Given the description of an element on the screen output the (x, y) to click on. 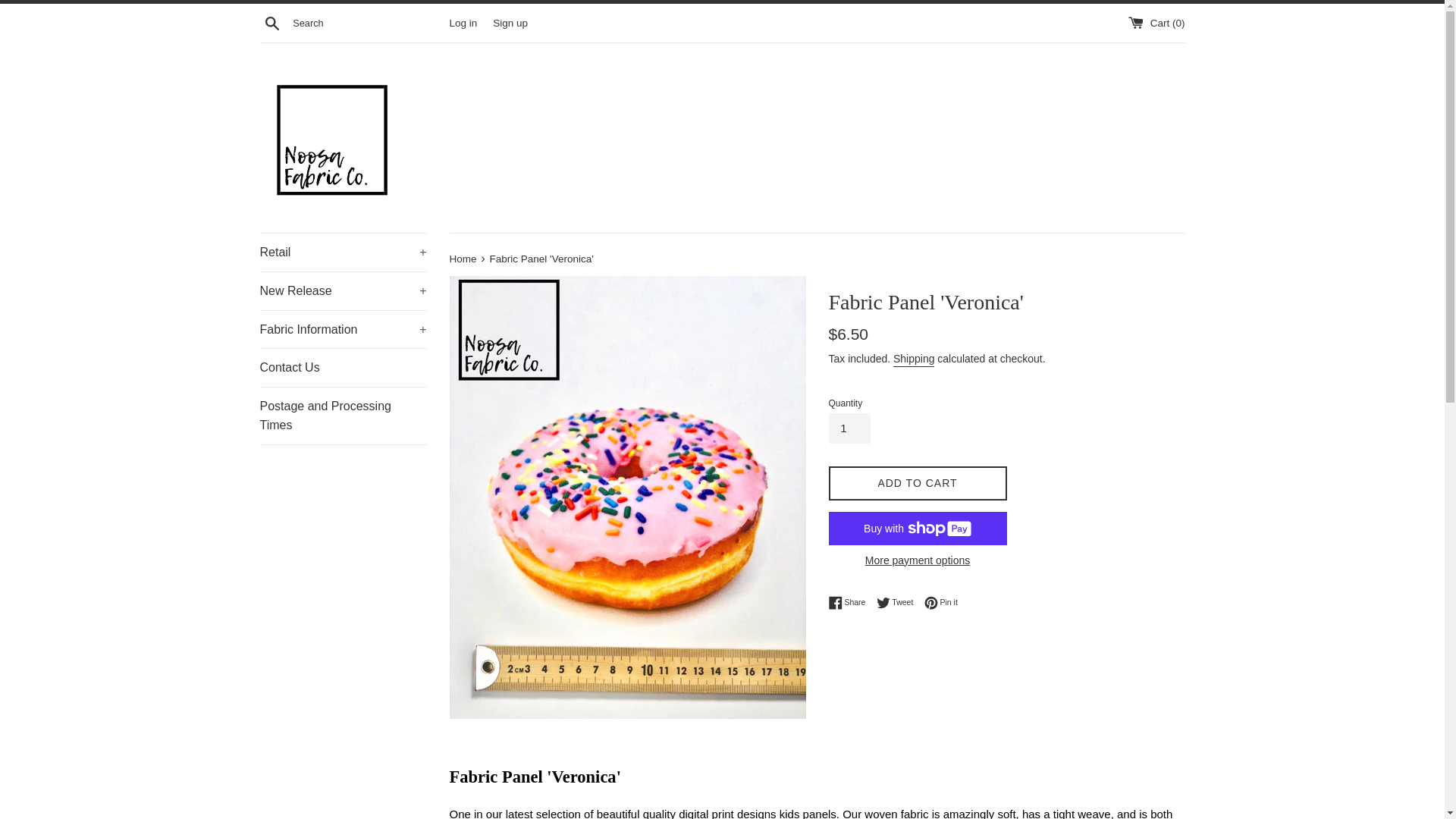
1 (848, 428)
Search (271, 21)
Sign up (510, 21)
Share on Facebook (850, 602)
Tweet on Twitter (898, 602)
Pin on Pinterest (941, 602)
Log in (462, 21)
Back to the frontpage (463, 258)
